Given the description of an element on the screen output the (x, y) to click on. 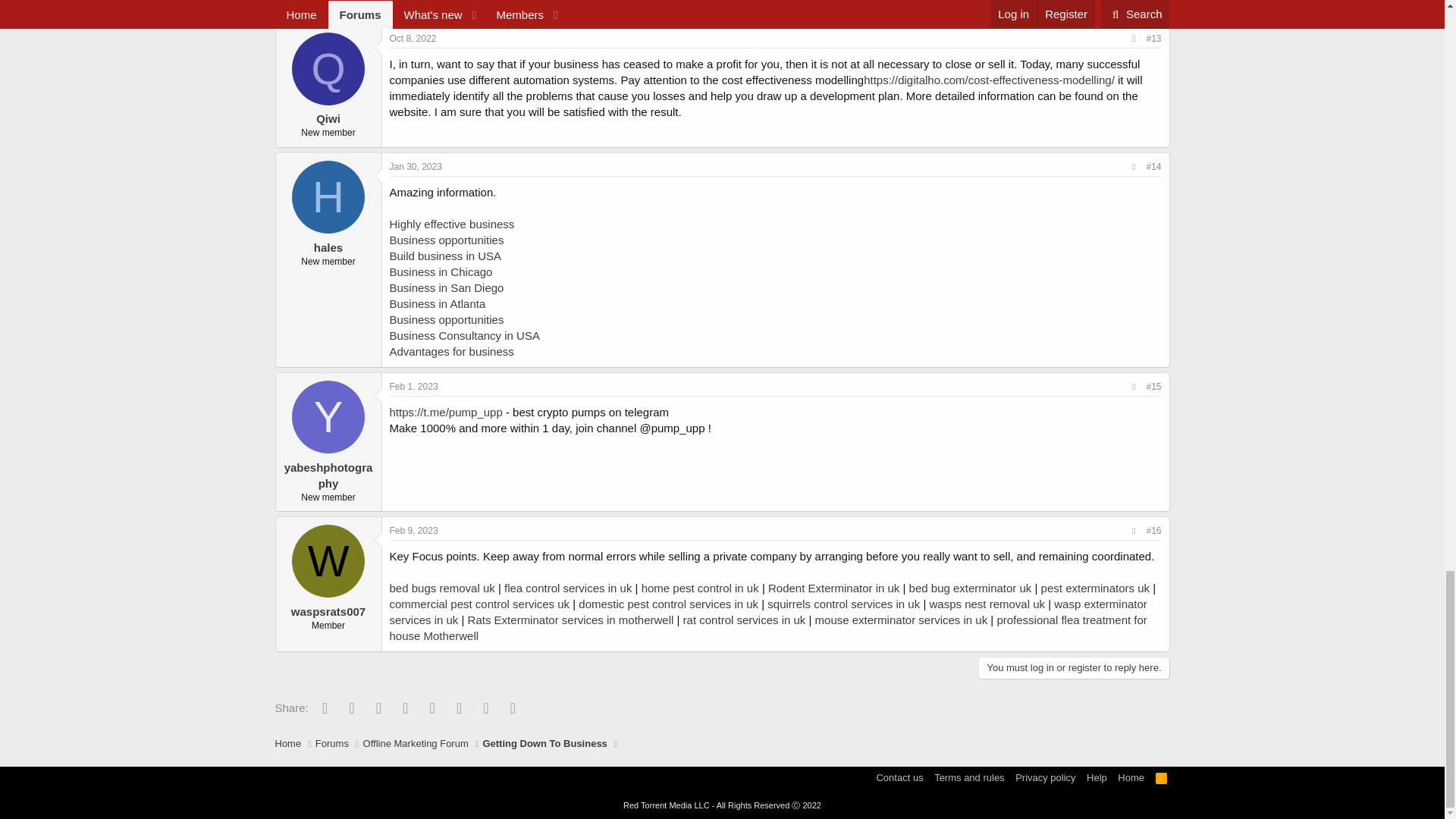
Oct 8, 2022 at 10:13 AM (413, 38)
Jan 30, 2023 at 11:03 AM (416, 166)
Feb 1, 2023 at 3:15 AM (414, 386)
